Given the description of an element on the screen output the (x, y) to click on. 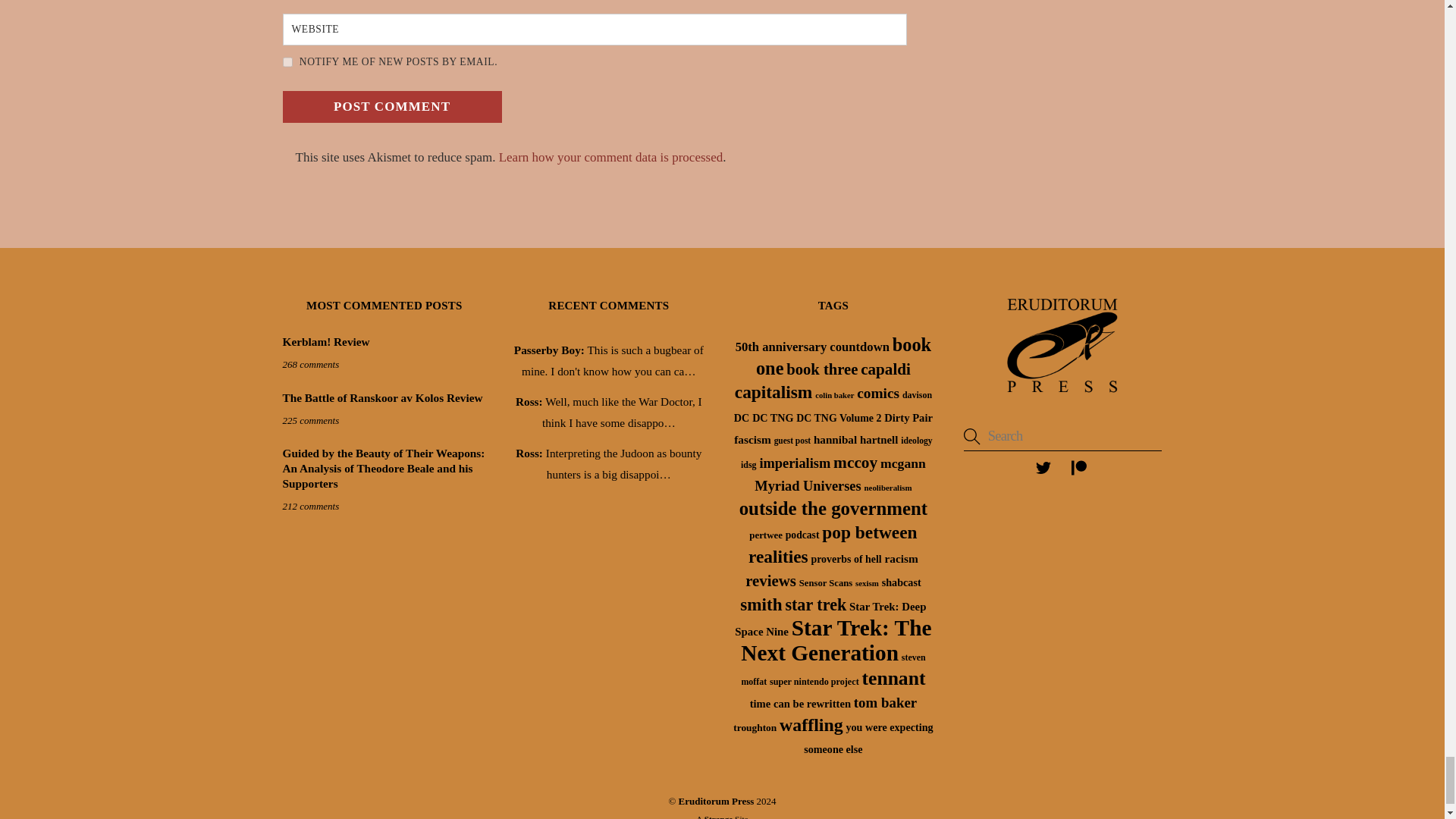
Search (1062, 436)
Eruditorum Press Logo (1062, 345)
Strange Specimen (718, 816)
Post Comment (391, 106)
Eruditorum Press (1062, 396)
